Given the description of an element on the screen output the (x, y) to click on. 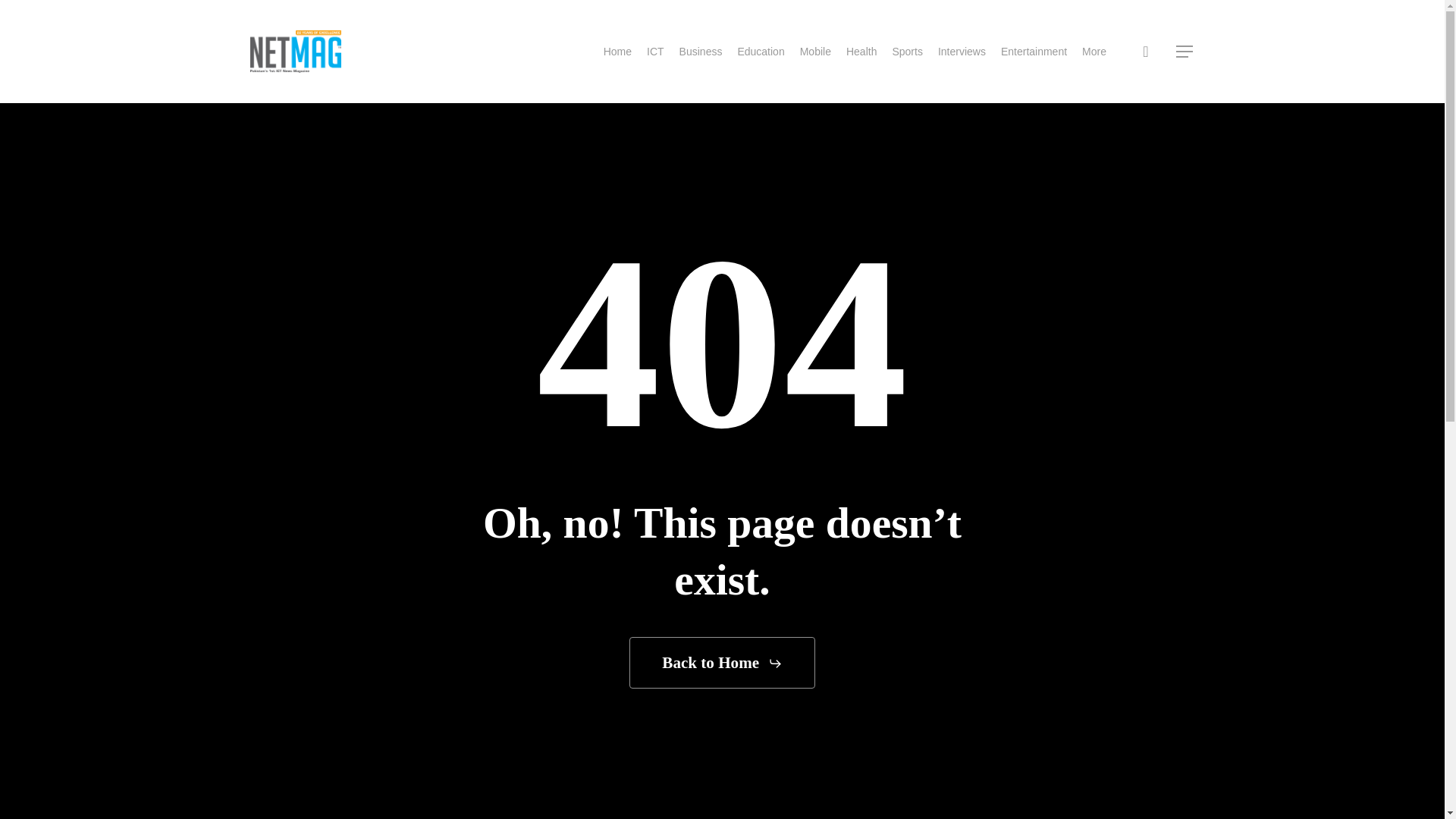
Home (617, 51)
More (1093, 51)
Back to Home (721, 662)
ICT (654, 51)
Business (700, 51)
Interviews (961, 51)
Health (860, 51)
Mobile (815, 51)
Education (760, 51)
Menu (1184, 51)
